Given the description of an element on the screen output the (x, y) to click on. 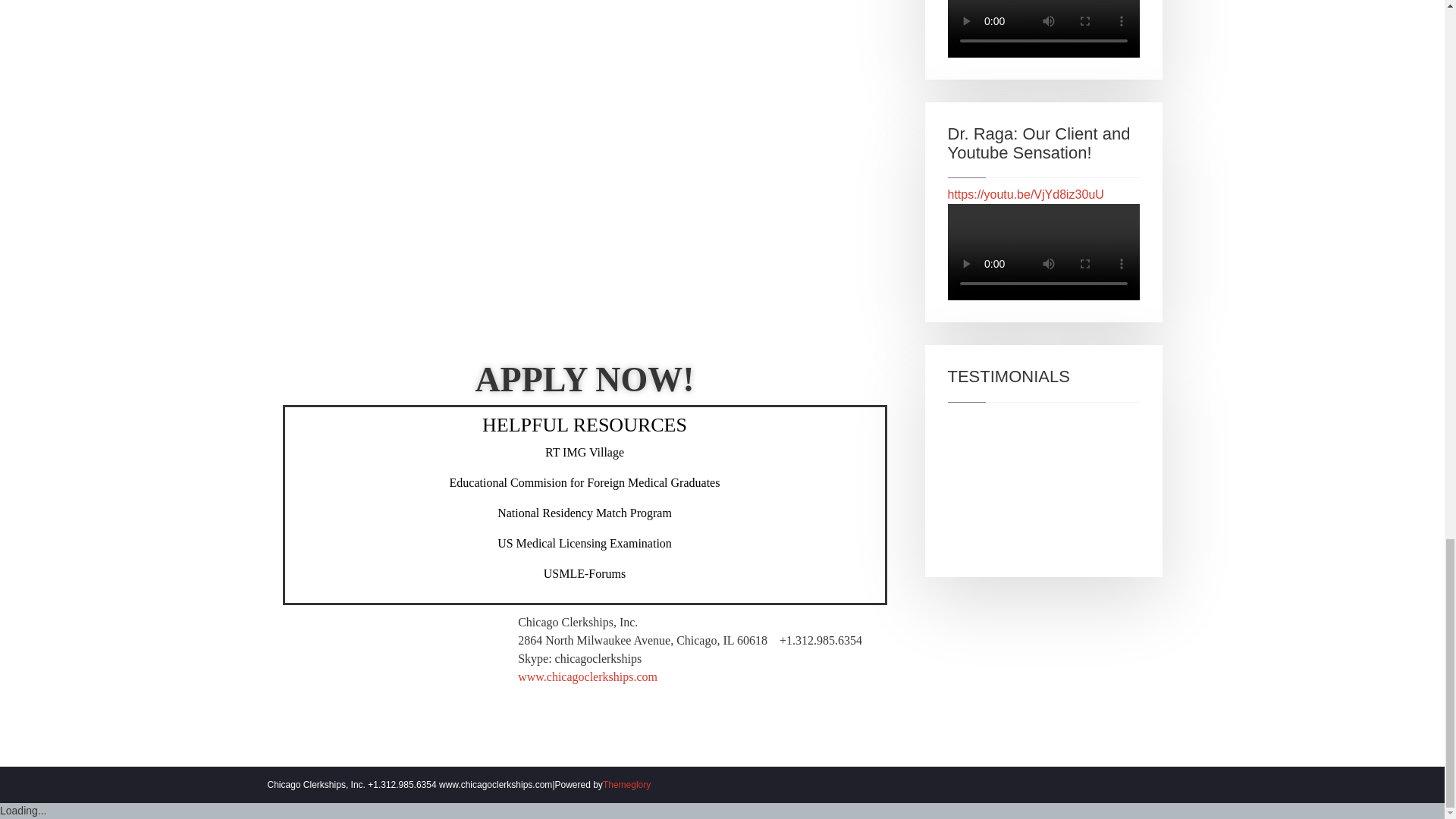
National Residency Match Program (584, 512)
USMLE-Forums (584, 573)
RT IMG Village (584, 451)
APPLY NOW! (584, 379)
Educational Commision for Foreign Medical Graduates (584, 481)
US Medical Licensing Examination (584, 543)
